Given the description of an element on the screen output the (x, y) to click on. 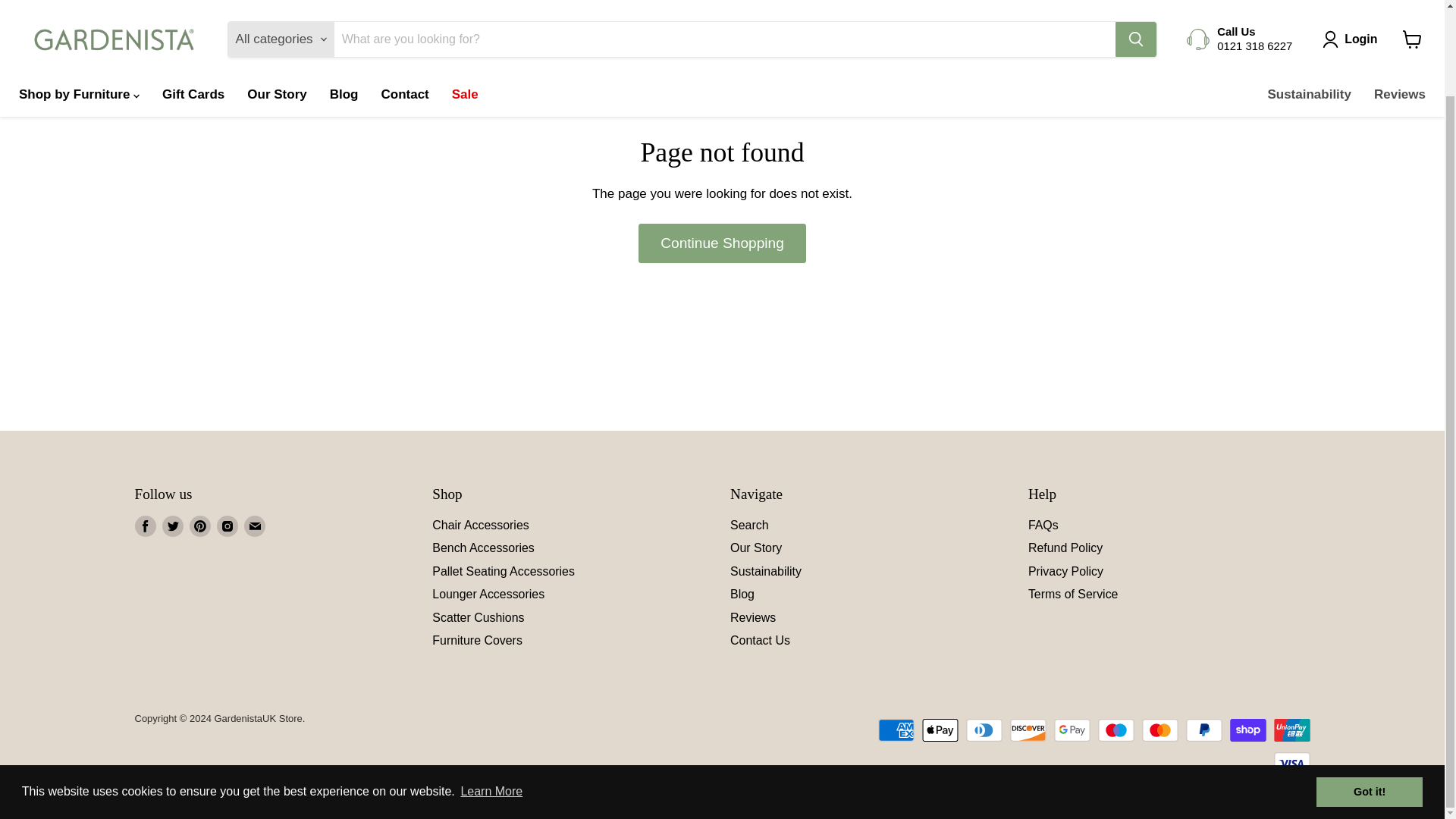
PayPal (1204, 730)
Discover (1028, 730)
Google Pay (1072, 730)
Pinterest (200, 526)
Learn More (491, 693)
Twitter (172, 526)
Shop Pay (1248, 730)
Mastercard (1159, 730)
Email (254, 526)
Contact (404, 34)
